Given the description of an element on the screen output the (x, y) to click on. 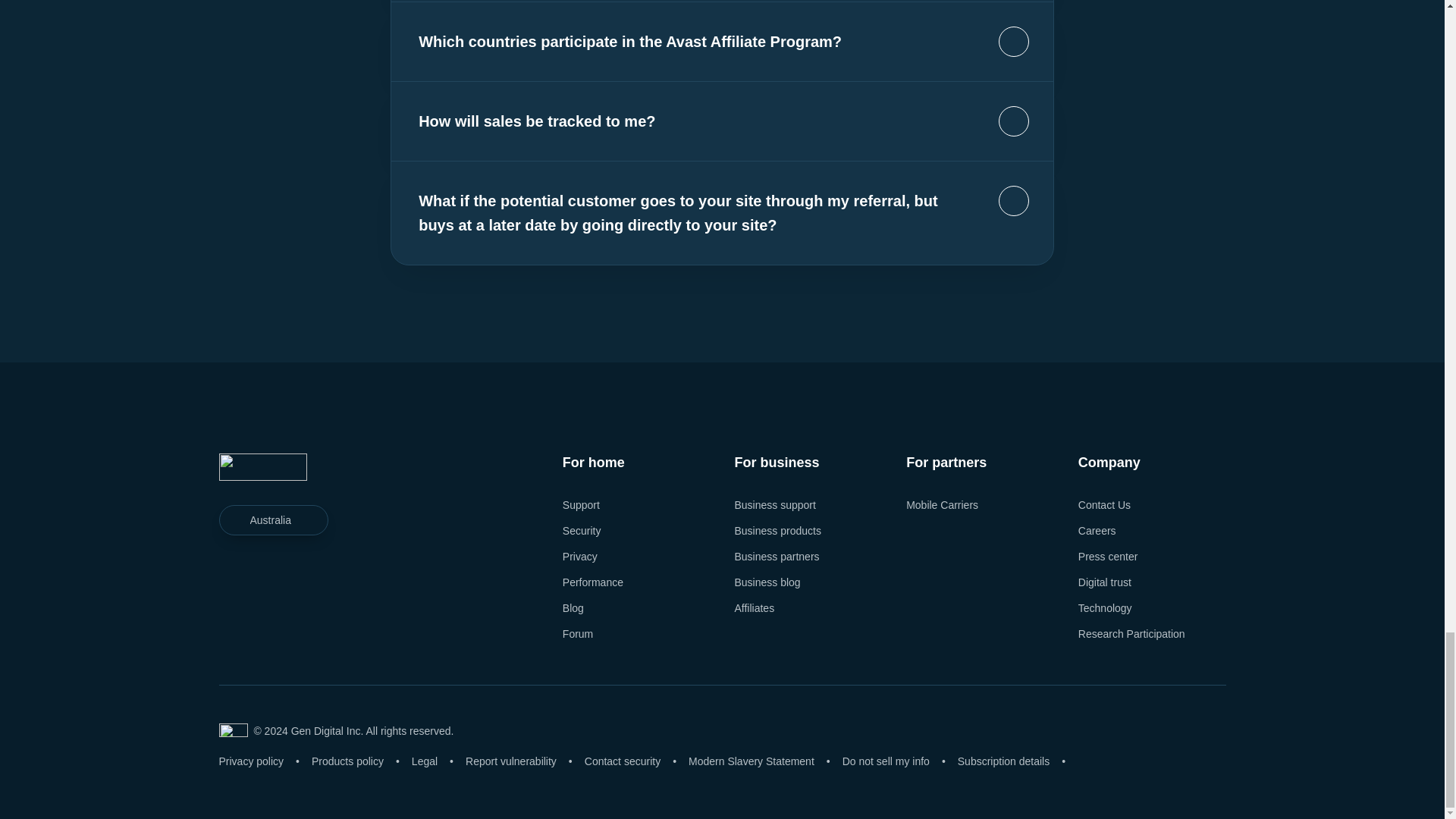
youtube (357, 625)
instagram (272, 625)
twitter (314, 625)
facebook (230, 625)
